Given the description of an element on the screen output the (x, y) to click on. 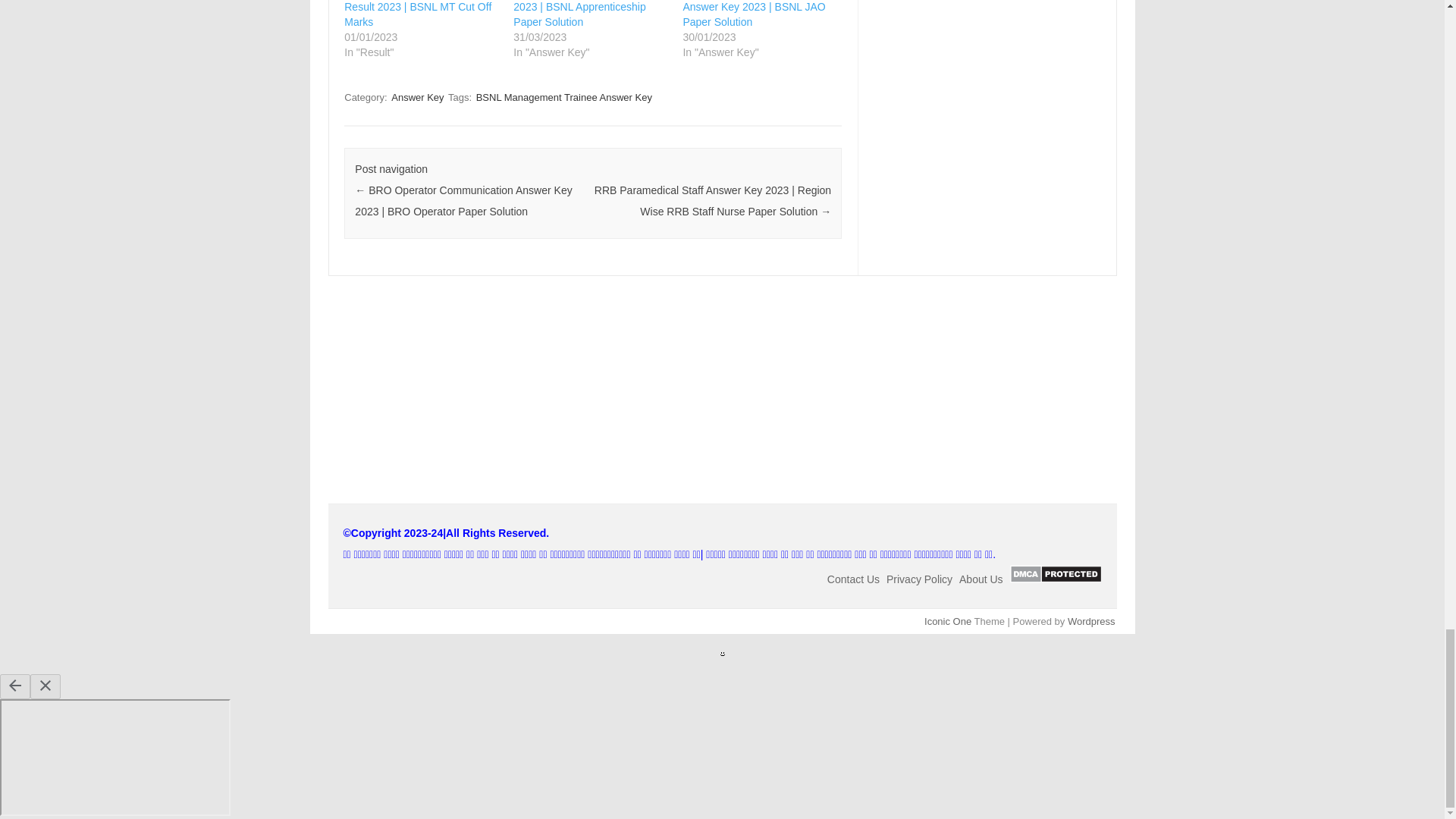
DMCA.com Protection Status (1056, 579)
BSNL Management Trainee Answer Key (563, 97)
Answer Key (417, 97)
